Given the description of an element on the screen output the (x, y) to click on. 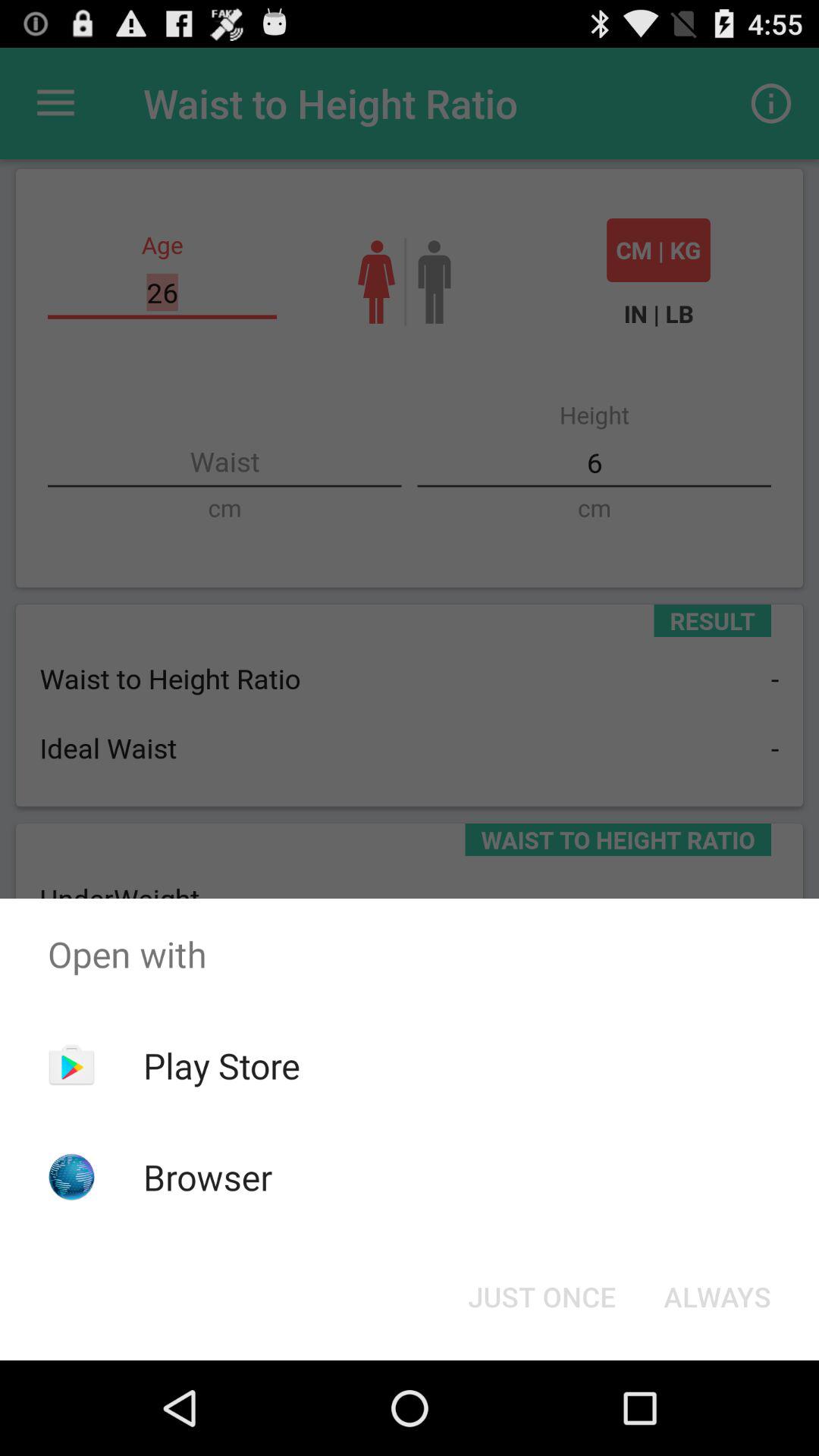
swipe to play store app (221, 1065)
